Given the description of an element on the screen output the (x, y) to click on. 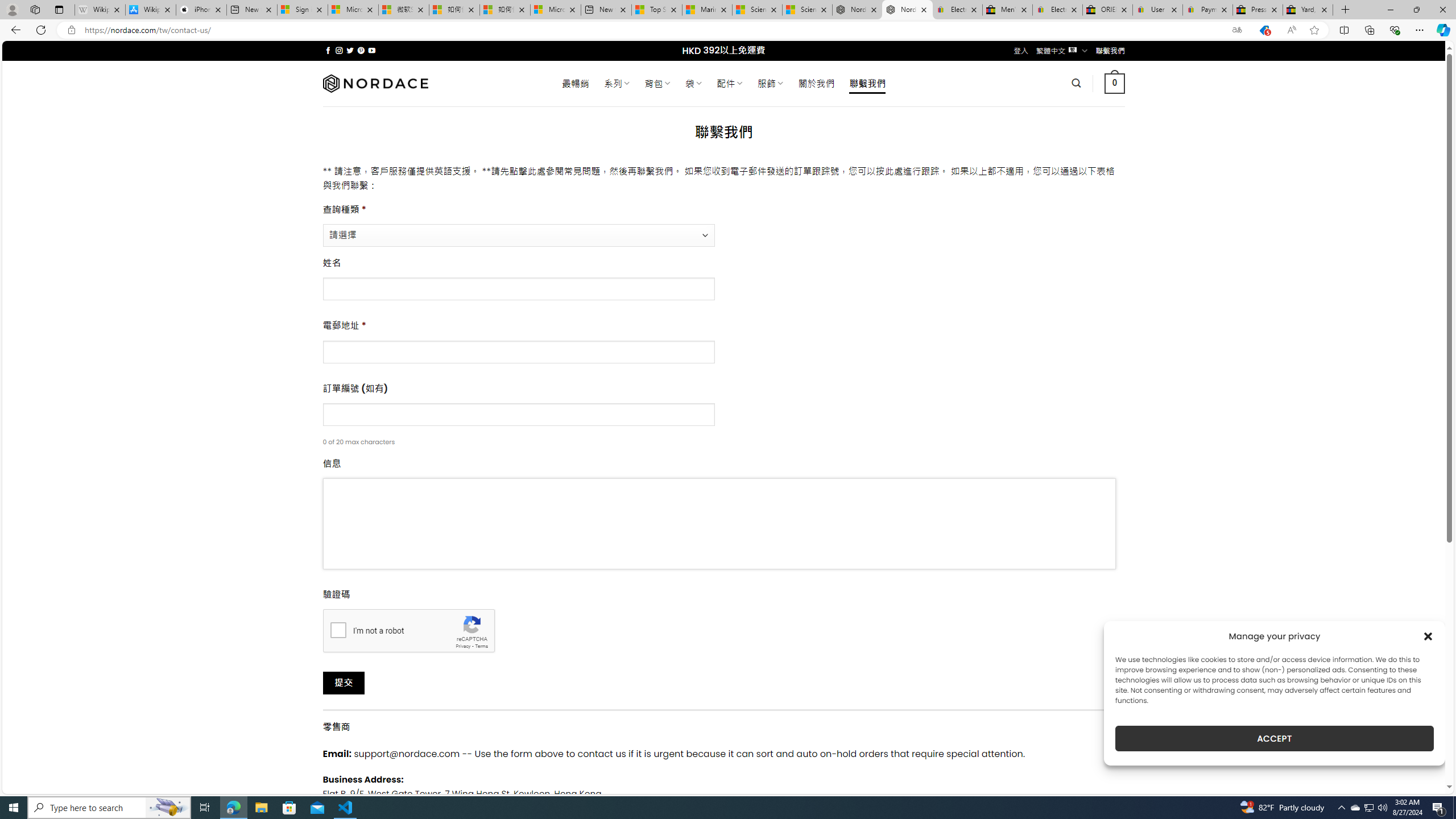
Payments Terms of Use | eBay.com (1207, 9)
Terms (481, 646)
Follow on Pinterest (360, 50)
